Given the description of an element on the screen output the (x, y) to click on. 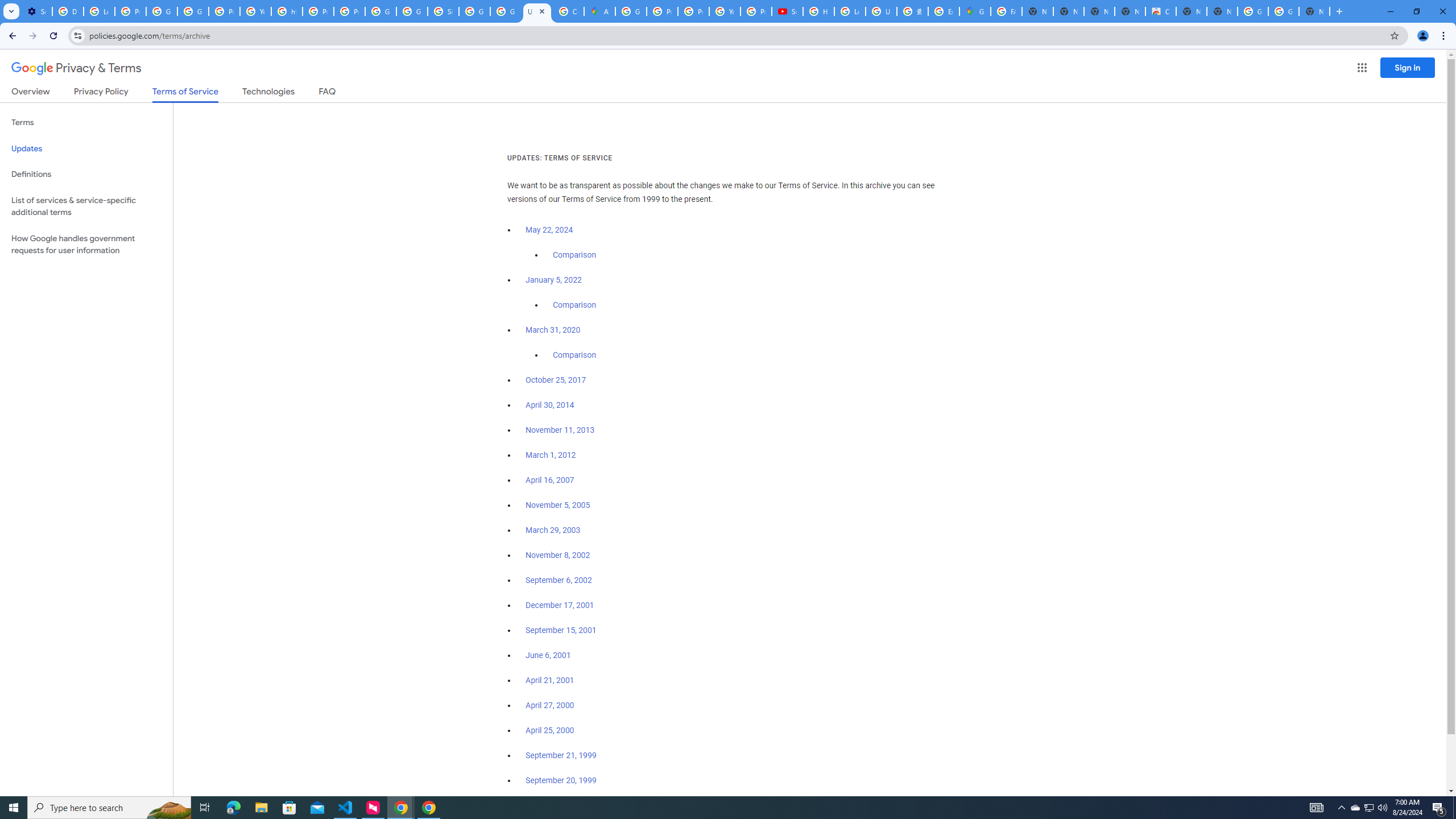
YouTube (255, 11)
September 20, 1999 (560, 780)
April 30, 2014 (550, 405)
FAQ (327, 93)
Terms of Service (184, 94)
Settings - On startup (36, 11)
Chrome Web Store (1160, 11)
November 8, 2002 (557, 555)
List of services & service-specific additional terms (86, 206)
Subscriptions - YouTube (787, 11)
